Given the description of an element on the screen output the (x, y) to click on. 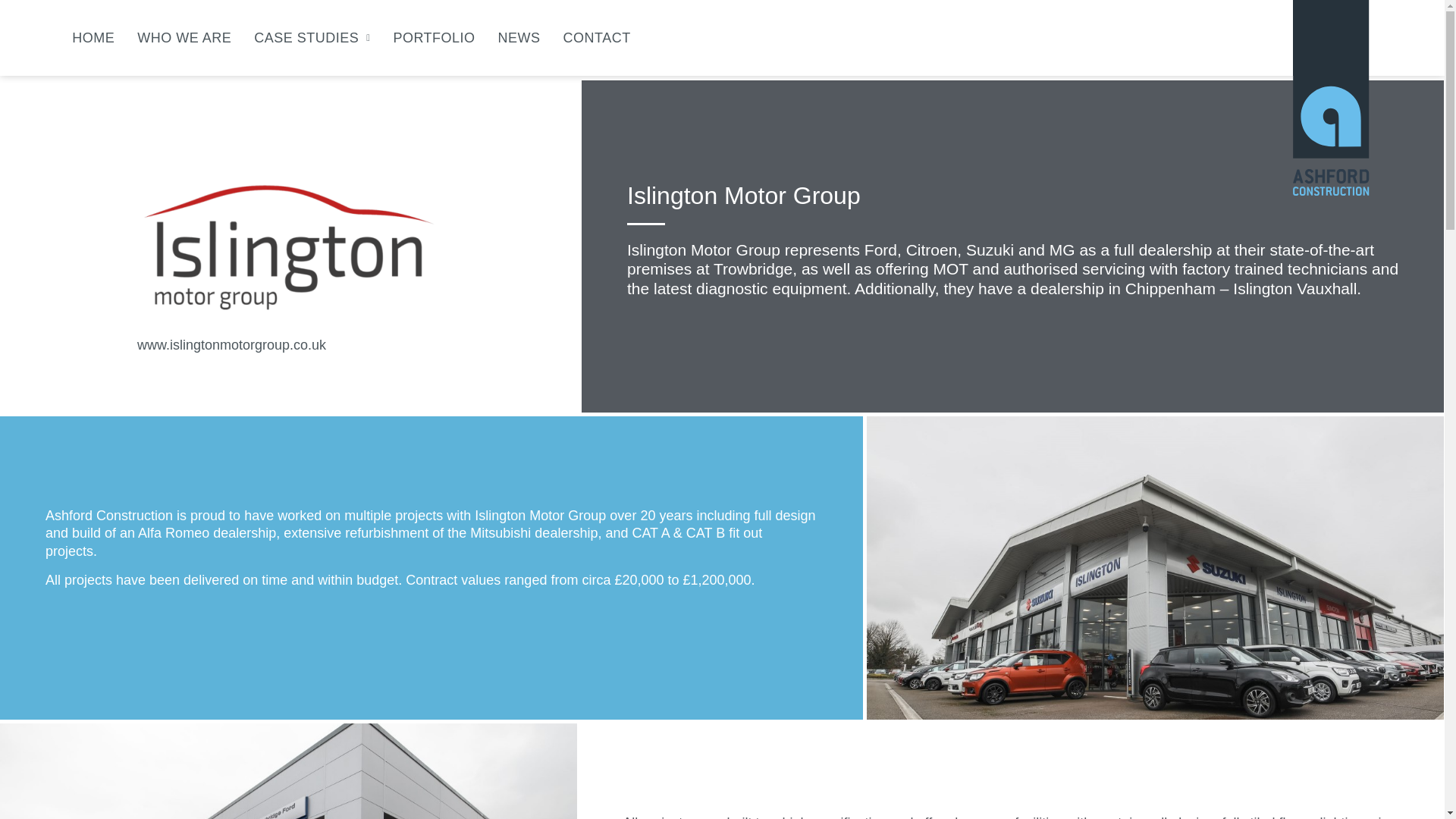
CONTACT (596, 37)
WHO WE ARE (183, 37)
HOME (93, 37)
NEWS (518, 37)
PORTFOLIO (433, 37)
CASE STUDIES (311, 37)
